Given the description of an element on the screen output the (x, y) to click on. 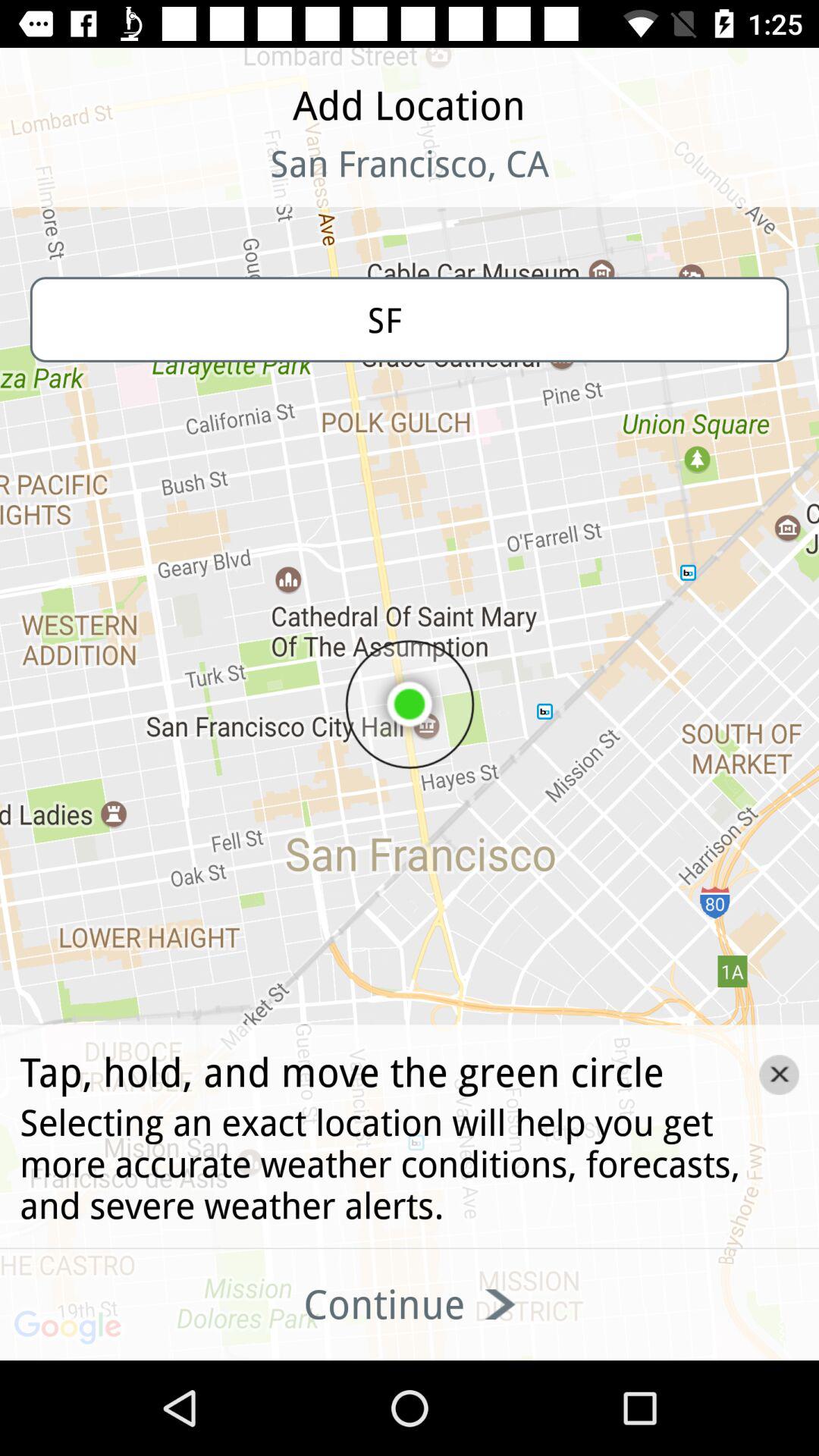
open the icon next to tap hold and icon (779, 1074)
